Given the description of an element on the screen output the (x, y) to click on. 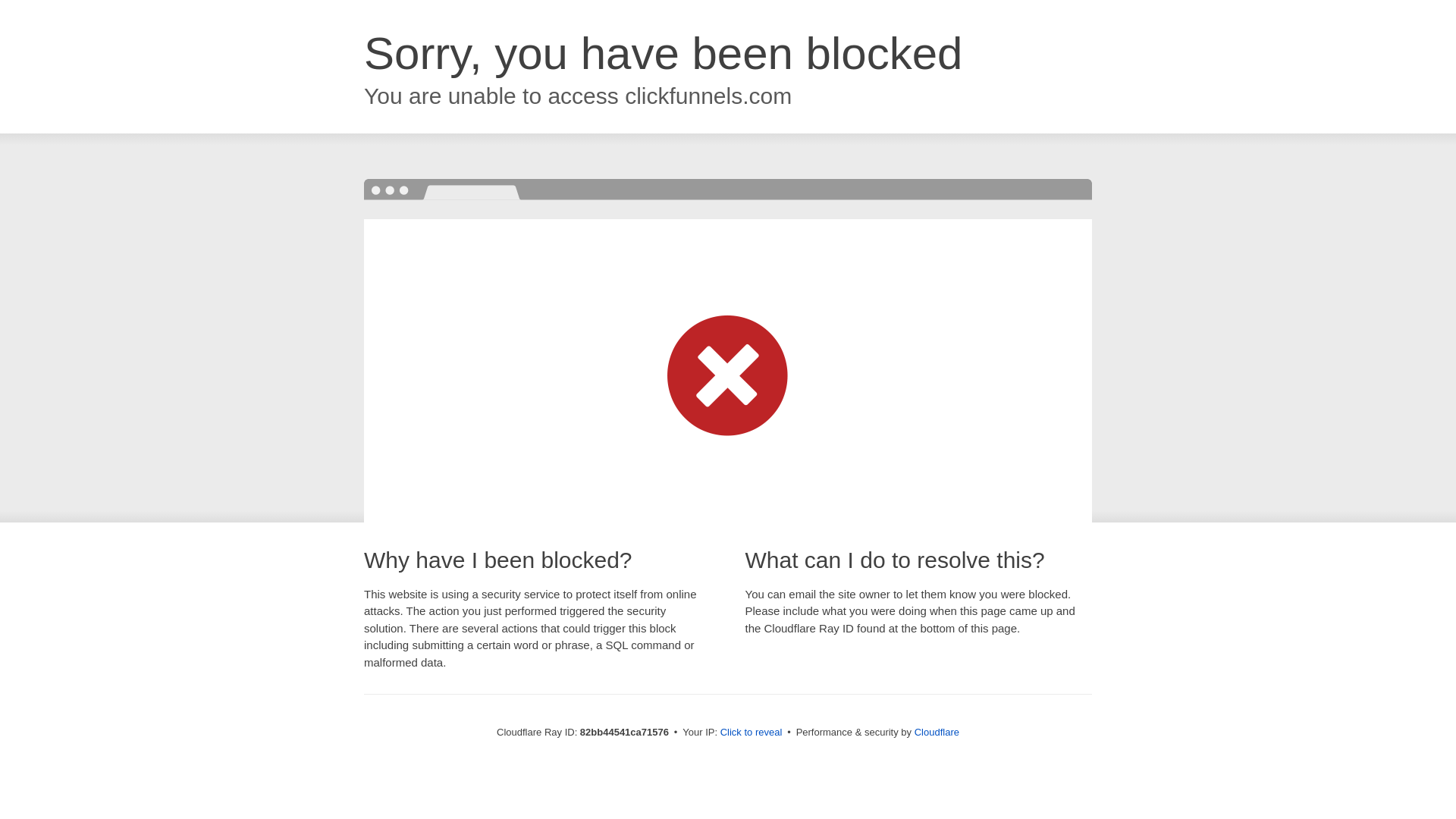
Cloudflare Element type: text (936, 731)
Click to reveal Element type: text (751, 732)
